Given the description of an element on the screen output the (x, y) to click on. 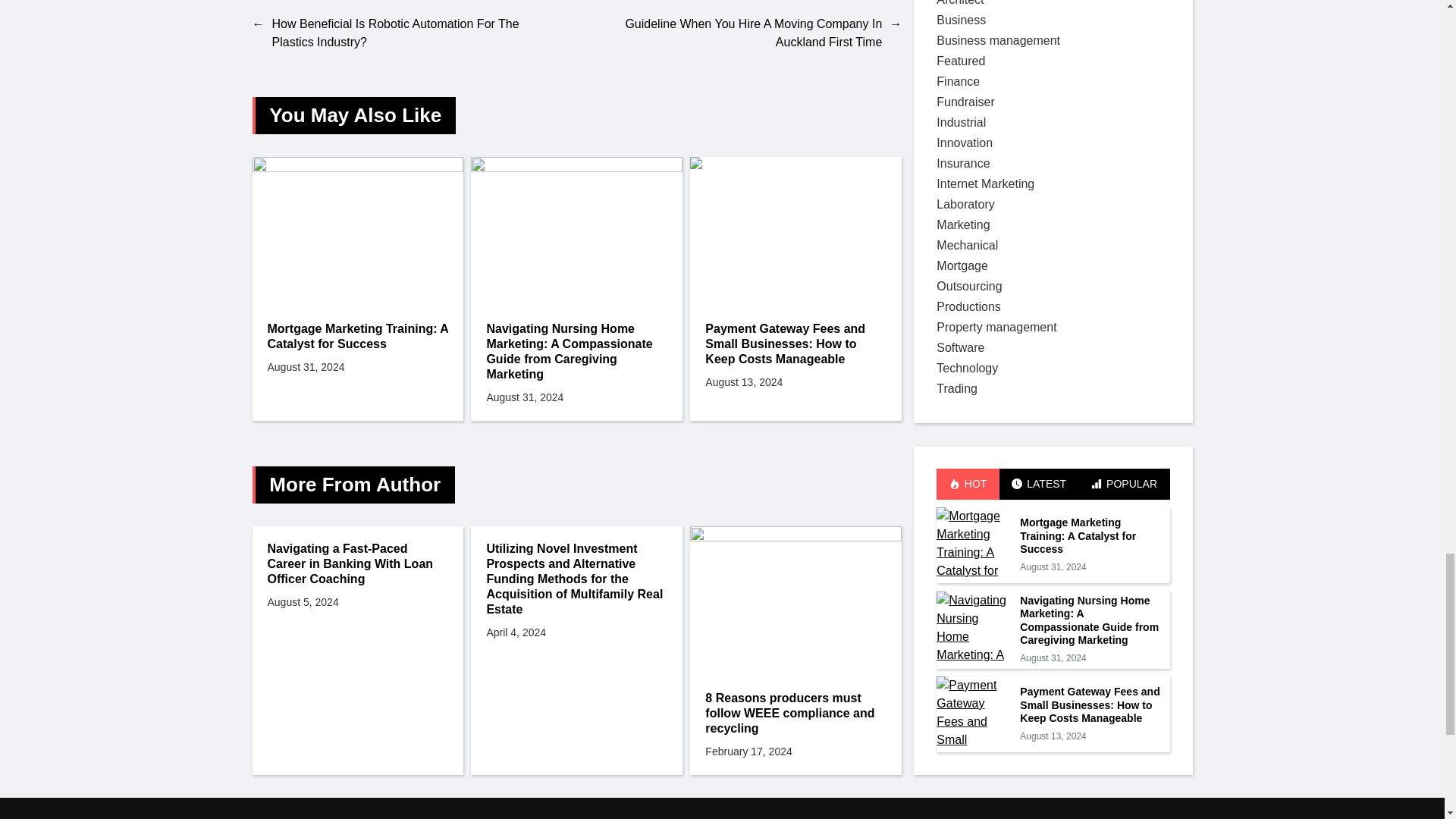
Mortgage Marketing Training: A Catalyst for Success (357, 336)
